Given the description of an element on the screen output the (x, y) to click on. 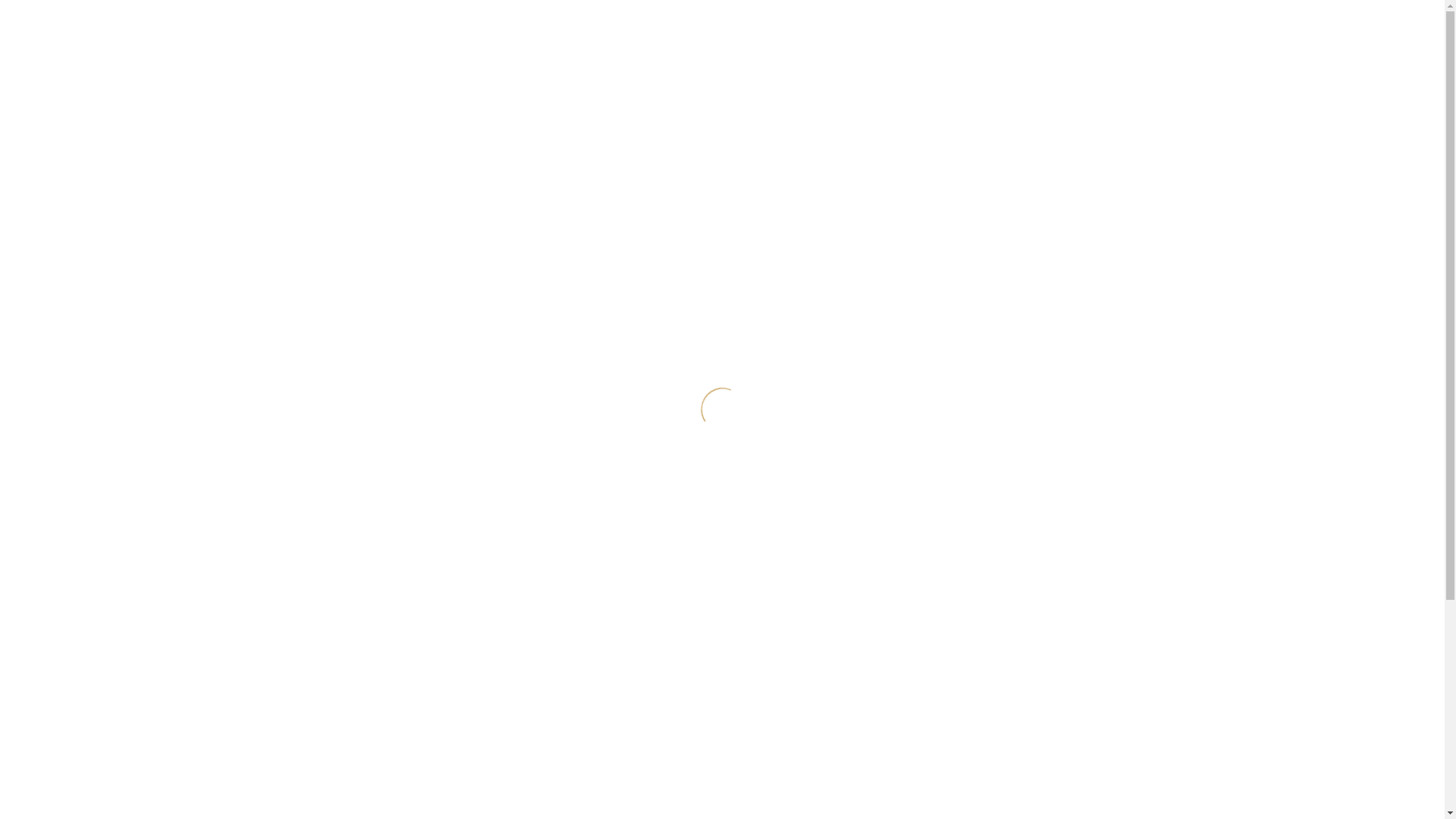
LAUNDRON Element type: text (554, 104)
Gebruikersnaam vergeten? Element type: text (994, 399)
ZONNEBANK Element type: text (391, 104)
HOME NL Element type: text (284, 104)
+ 32 486-726145 Element type: text (696, 15)
Inloggen Element type: text (945, 342)
Registreer Element type: text (955, 381)
Wachtwoord vergeten? Element type: text (984, 418)
STURINGEN Element type: text (475, 104)
CONTACT & OFFERTE Element type: text (658, 104)
bluered.be@outlook.com Element type: text (824, 15)
ONLINE SHOP --> Element type: text (852, 104)
